Given the description of an element on the screen output the (x, y) to click on. 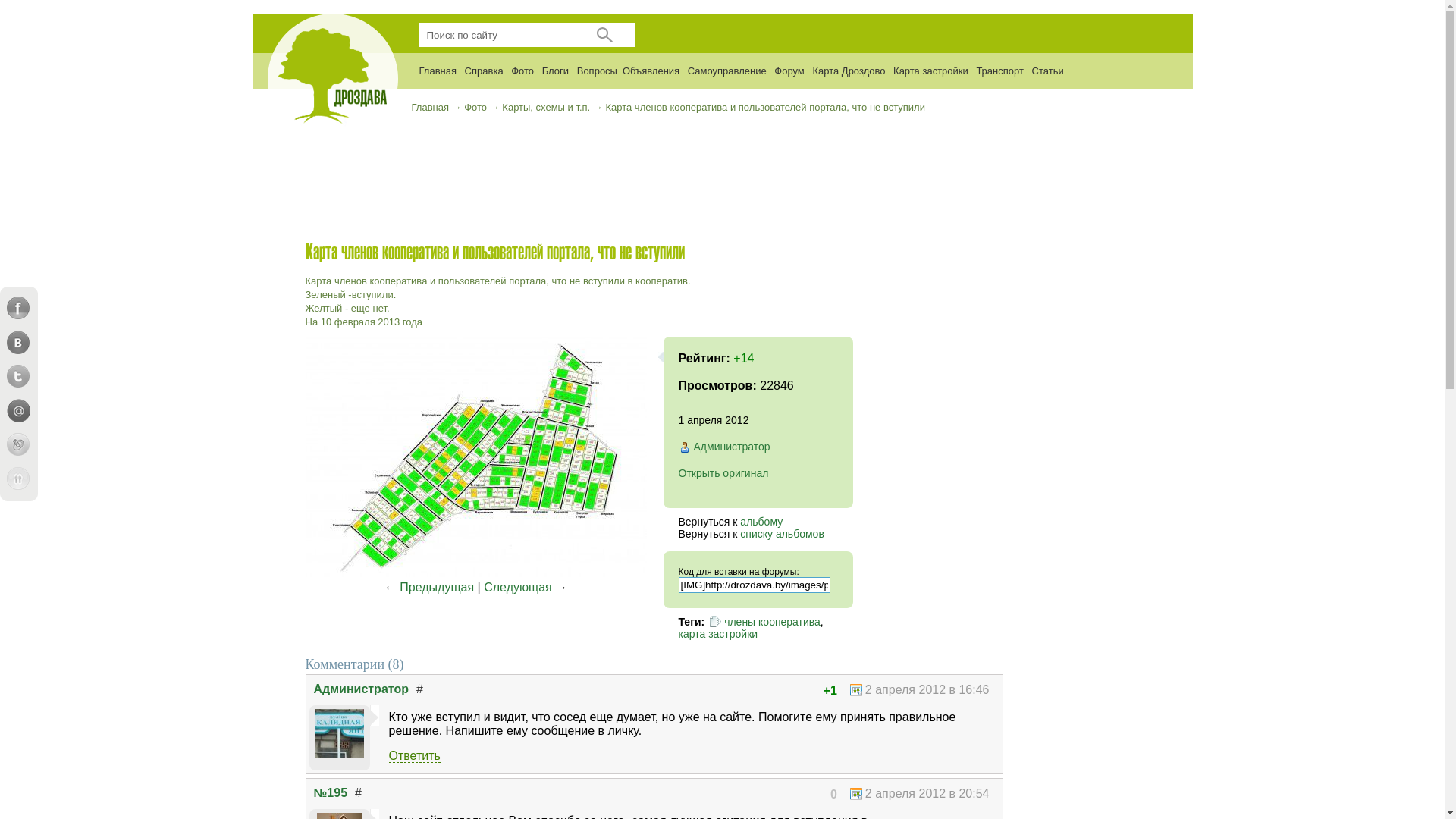
Advertisement Element type: hover (653, 190)
# Element type: text (357, 793)
# Element type: text (419, 689)
